Given the description of an element on the screen output the (x, y) to click on. 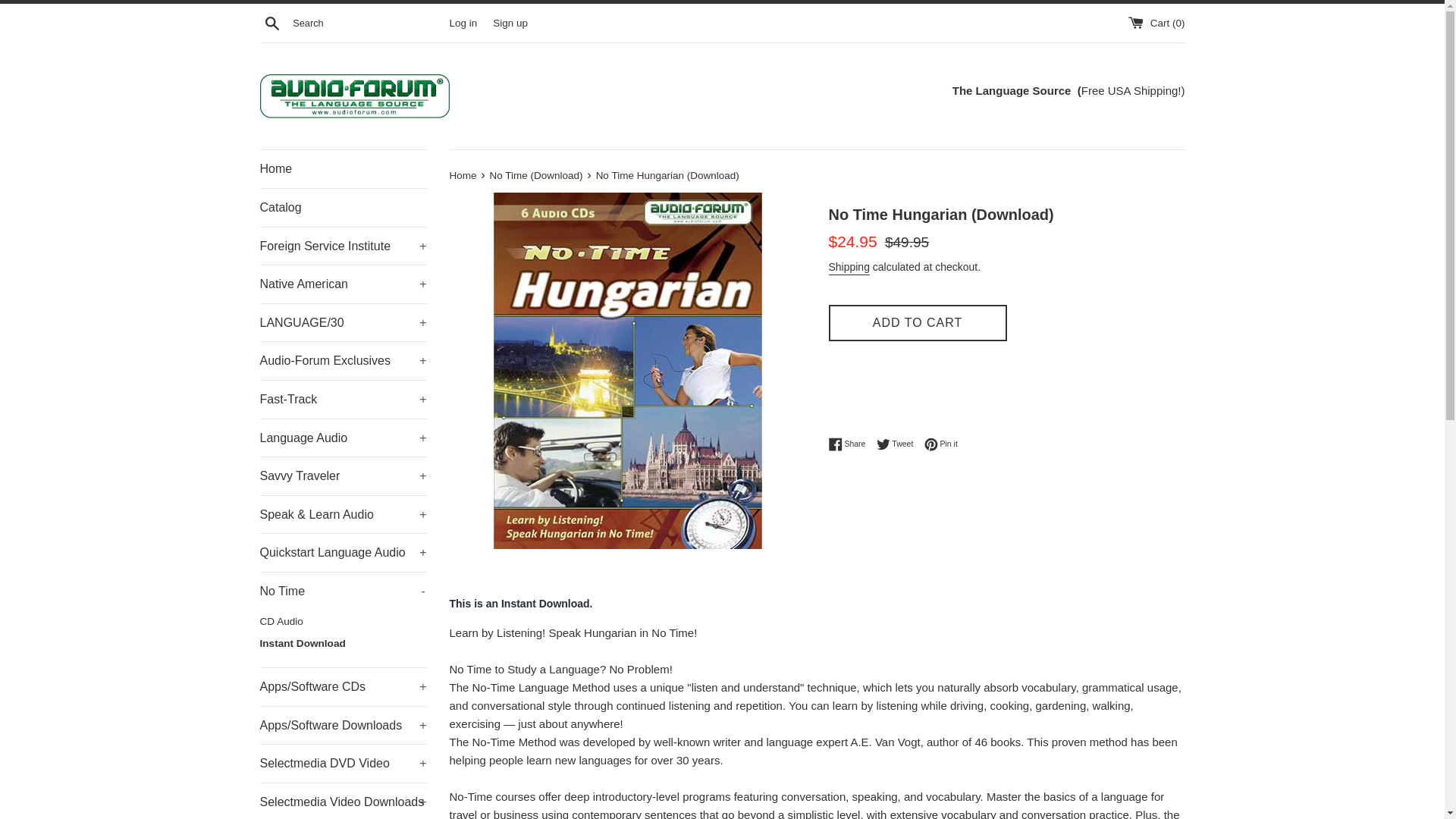
Catalog (342, 207)
Search (271, 21)
Tweet on Twitter (898, 444)
Home (342, 168)
Pin on Pinterest (941, 444)
Share on Facebook (850, 444)
Sign up (510, 21)
Log in (462, 21)
Back to the frontpage (463, 174)
